Given the description of an element on the screen output the (x, y) to click on. 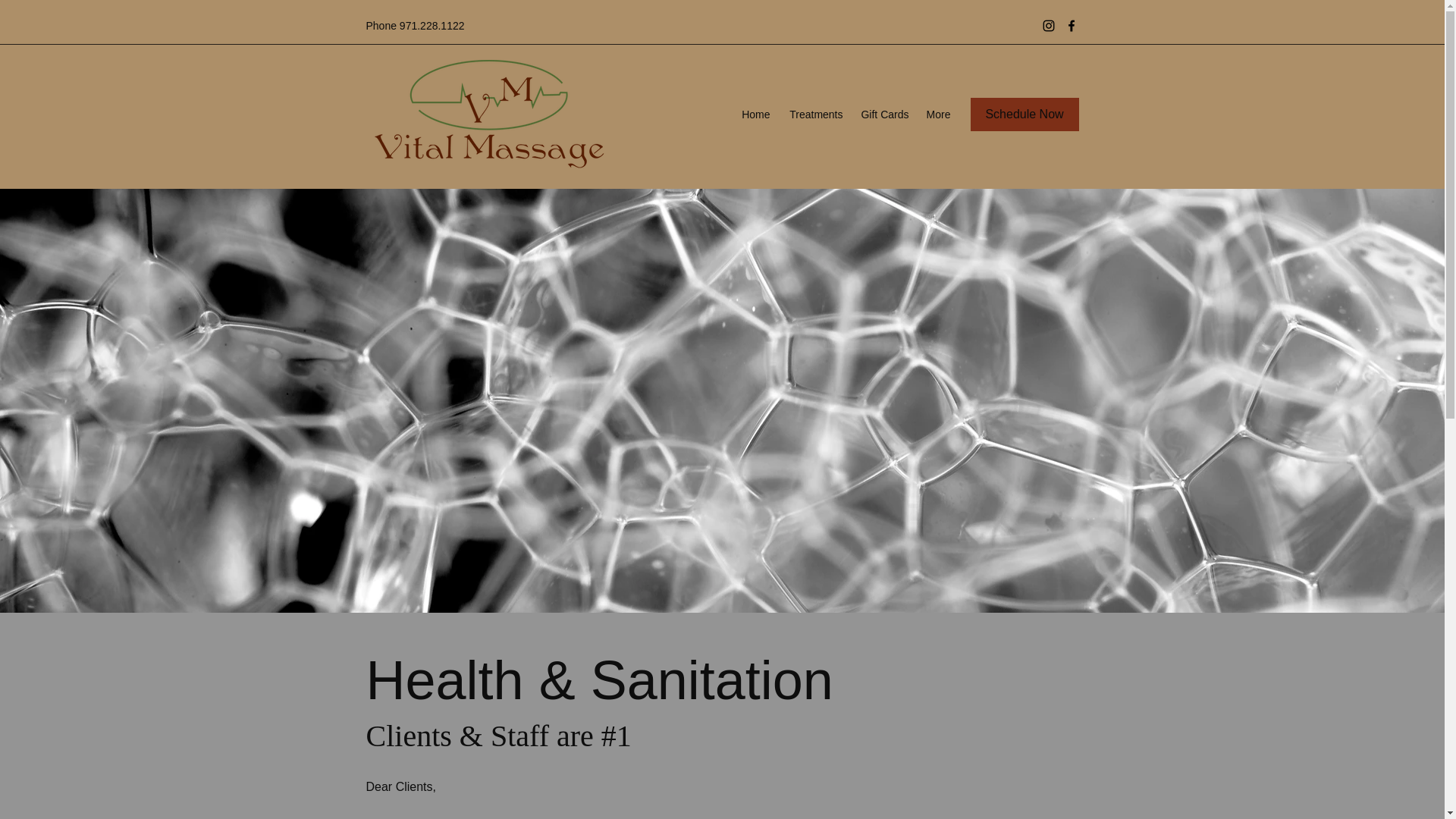
Home (754, 115)
Gift Cards (883, 115)
Schedule Now (1024, 114)
Treatments (813, 115)
